Given the description of an element on the screen output the (x, y) to click on. 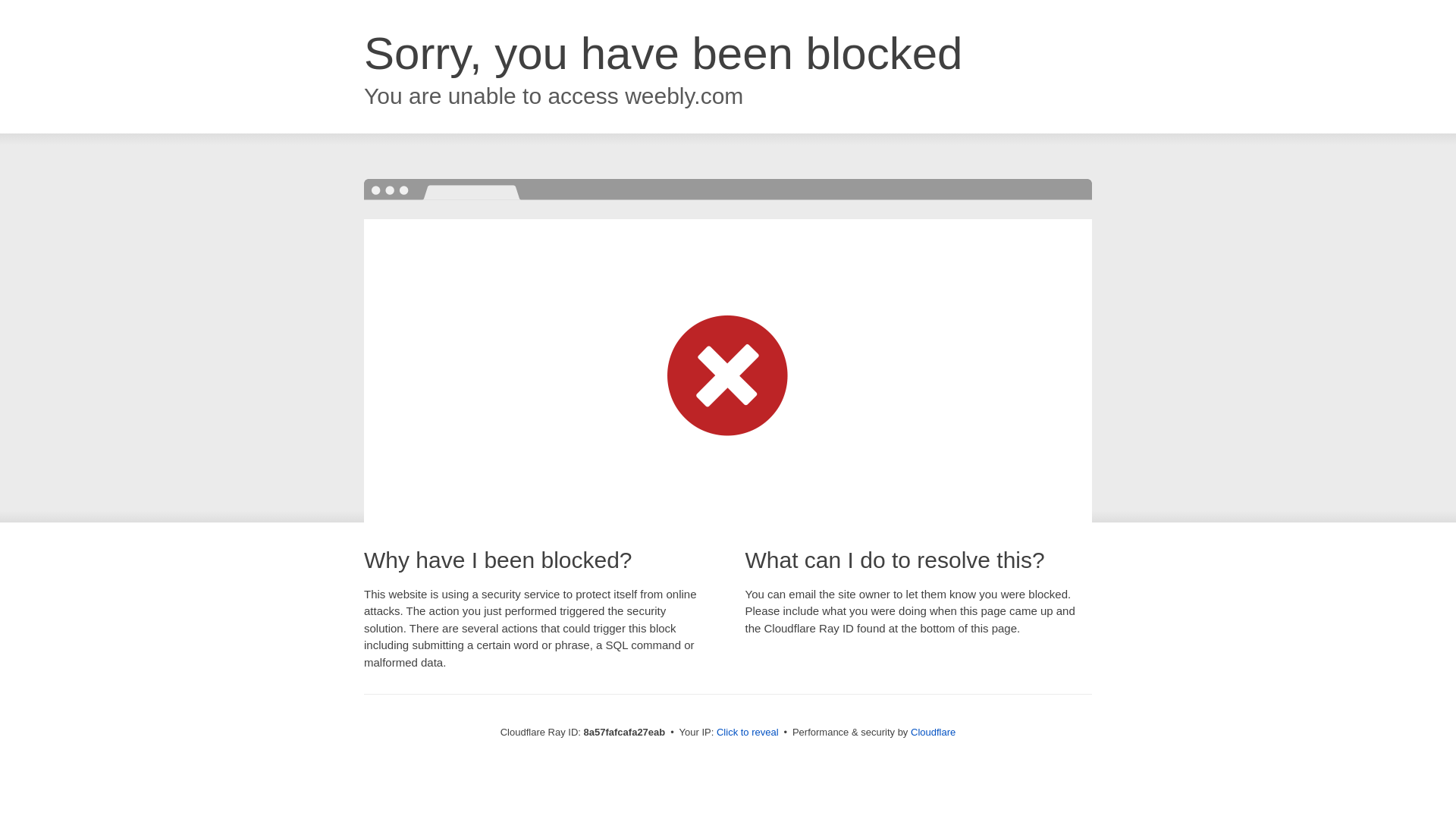
Cloudflare (933, 731)
Click to reveal (747, 732)
